Given the description of an element on the screen output the (x, y) to click on. 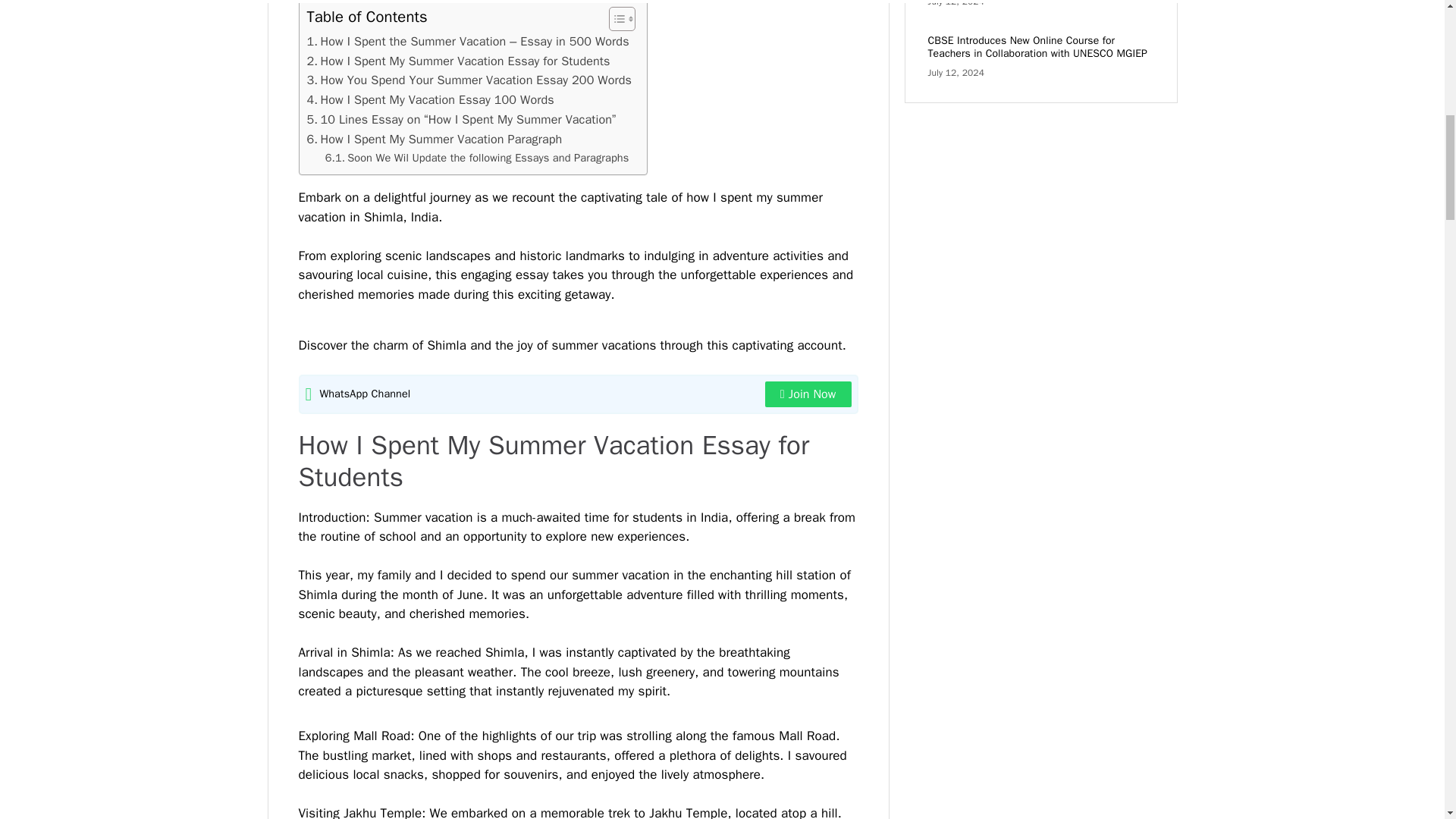
Soon We Wil Update the following Essays and Paragraphs (476, 158)
How I Spent My Vacation Essay 100 Words (429, 99)
How I Spent My Summer Vacation Paragraph (433, 139)
How You Spend Your Summer Vacation Essay 200 Words (468, 80)
How I Spent My Summer Vacation Essay for Students (457, 61)
